Given the description of an element on the screen output the (x, y) to click on. 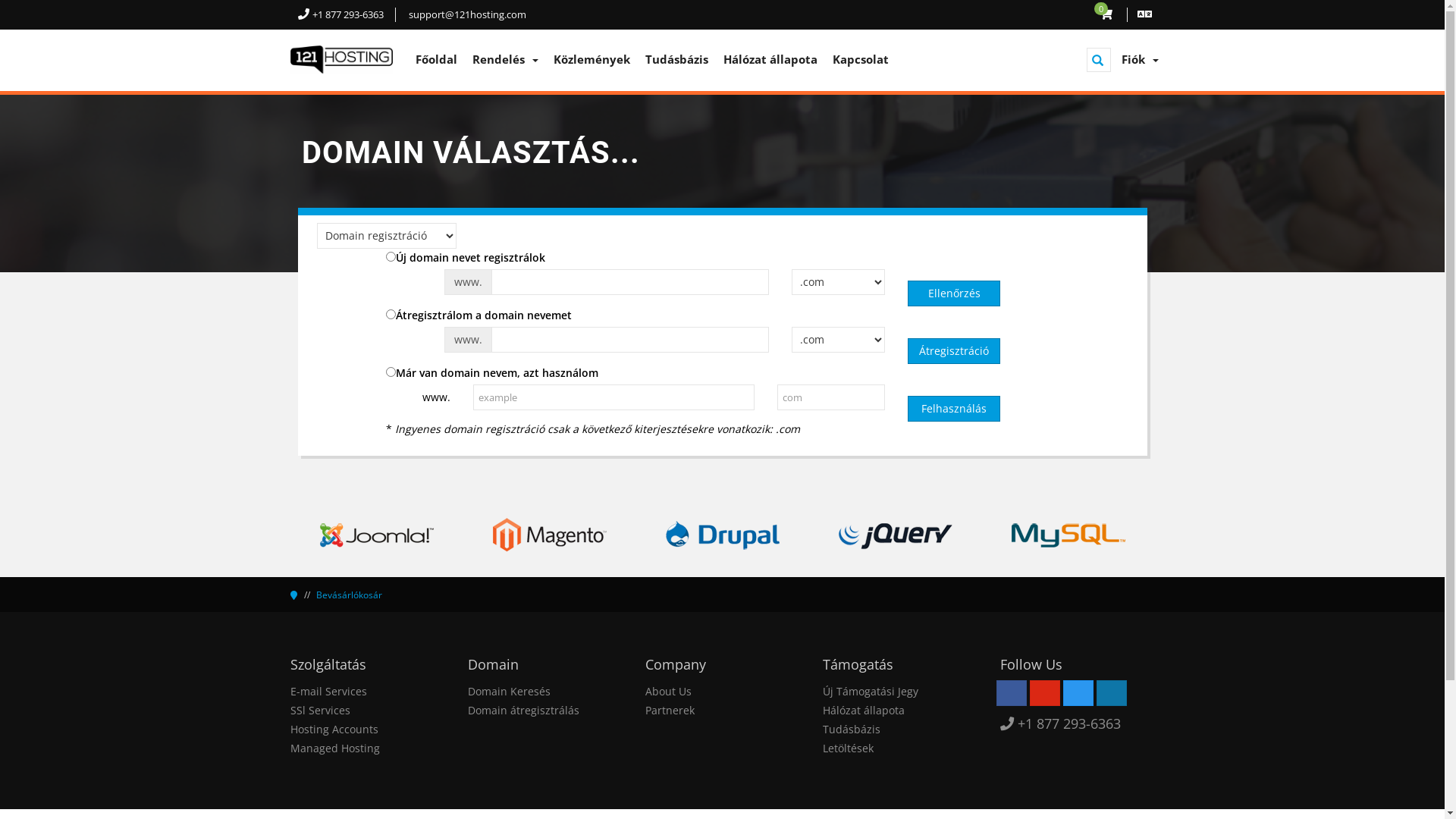
Partnerek Element type: text (668, 709)
About Us Element type: text (667, 691)
0 Element type: text (1107, 14)
Kapcsolat Element type: text (860, 59)
E-mail Services Element type: text (327, 691)
SSl Services Element type: text (319, 709)
Hosting Accounts Element type: text (333, 728)
Managed Hosting Element type: text (334, 747)
